Given the description of an element on the screen output the (x, y) to click on. 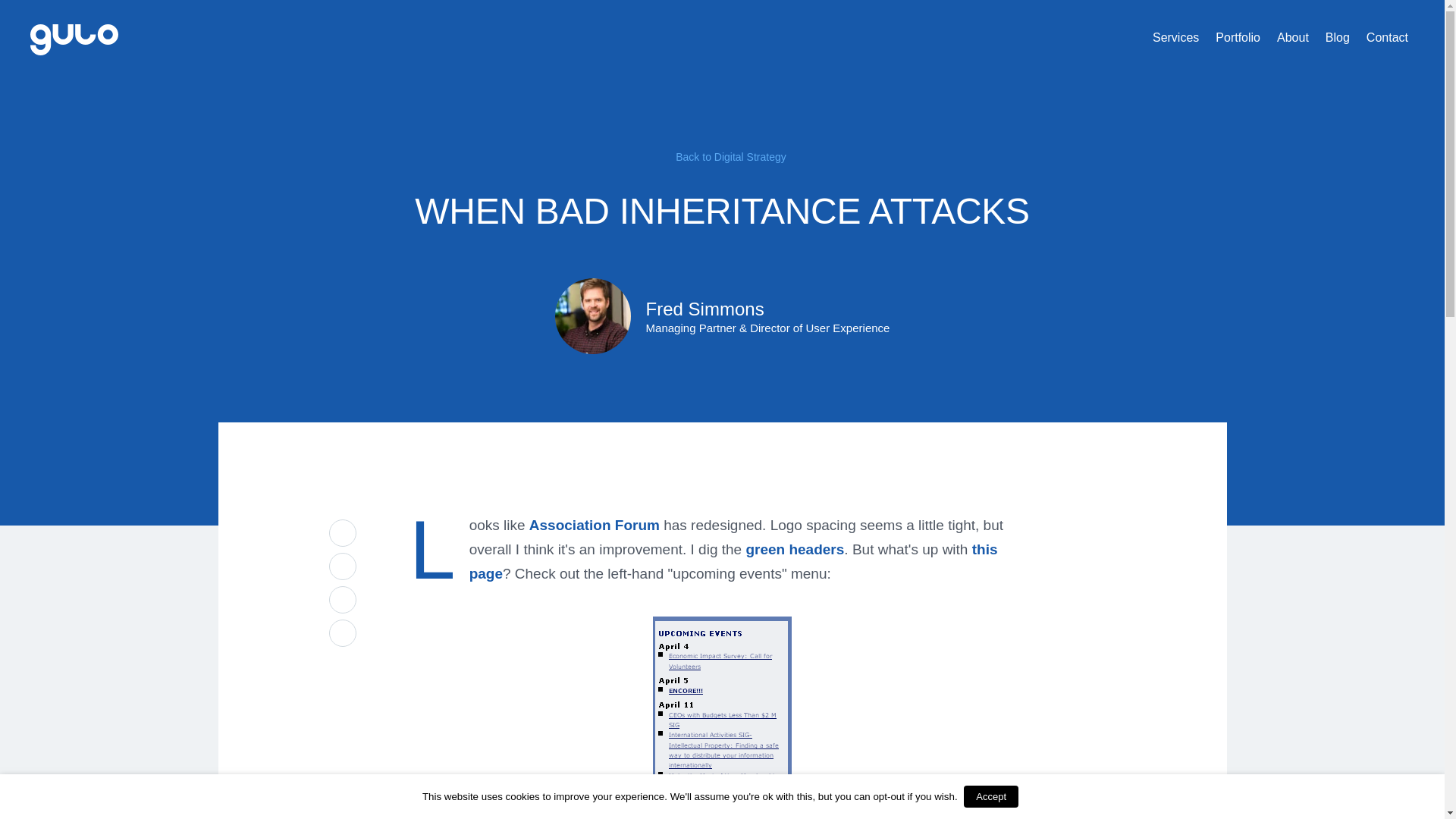
this page (732, 561)
Contact (1386, 37)
Portfolio (1237, 37)
Association Forum (594, 524)
opt-out (888, 796)
Back to Digital Strategy (722, 156)
Blog (1337, 37)
About (1292, 37)
green headers (794, 549)
Services (1176, 37)
